Given the description of an element on the screen output the (x, y) to click on. 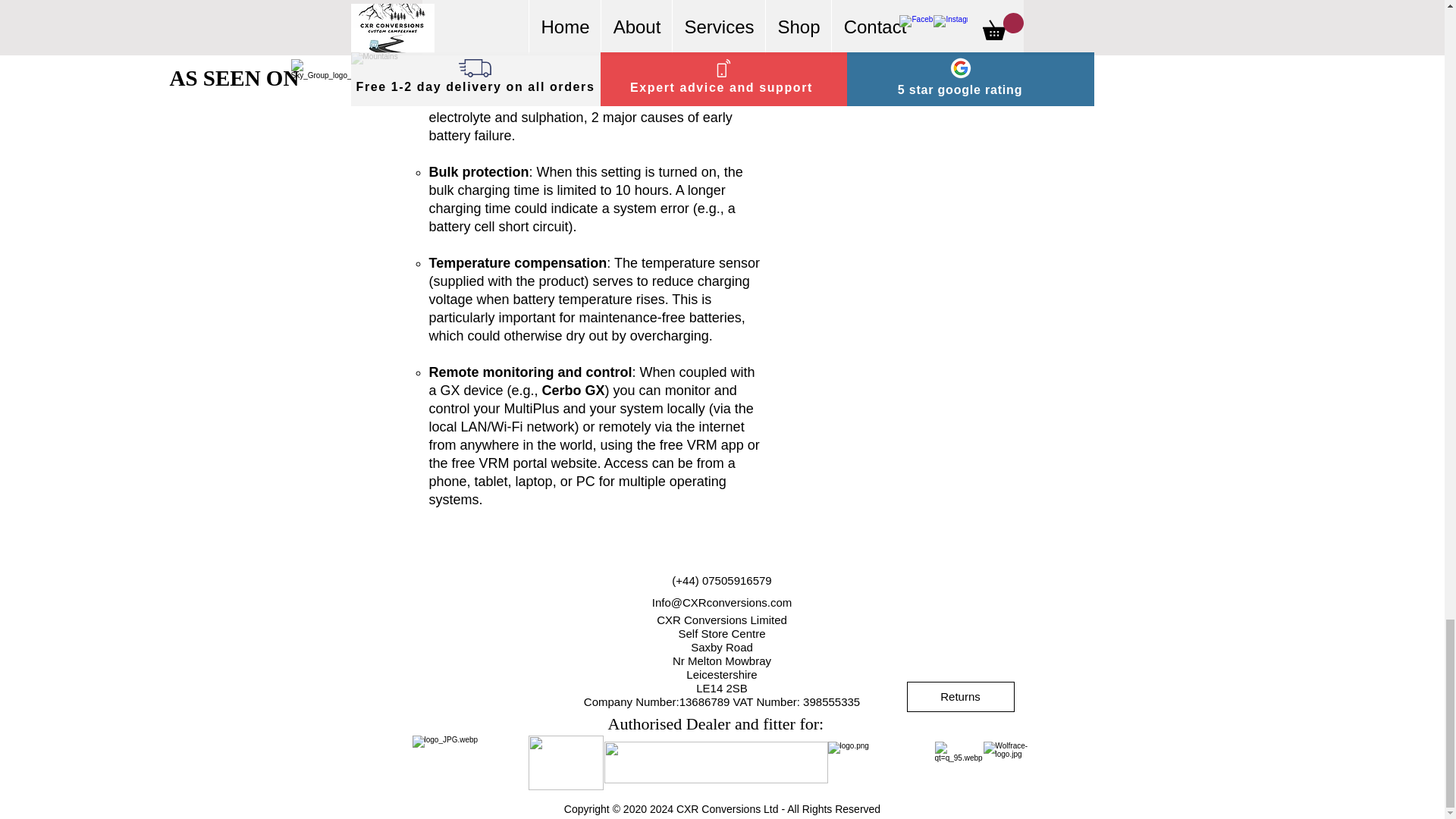
ScorpionAuto-Logo-01.png (564, 762)
Returns (960, 696)
Vanshades logo.jfif (715, 762)
